Given the description of an element on the screen output the (x, y) to click on. 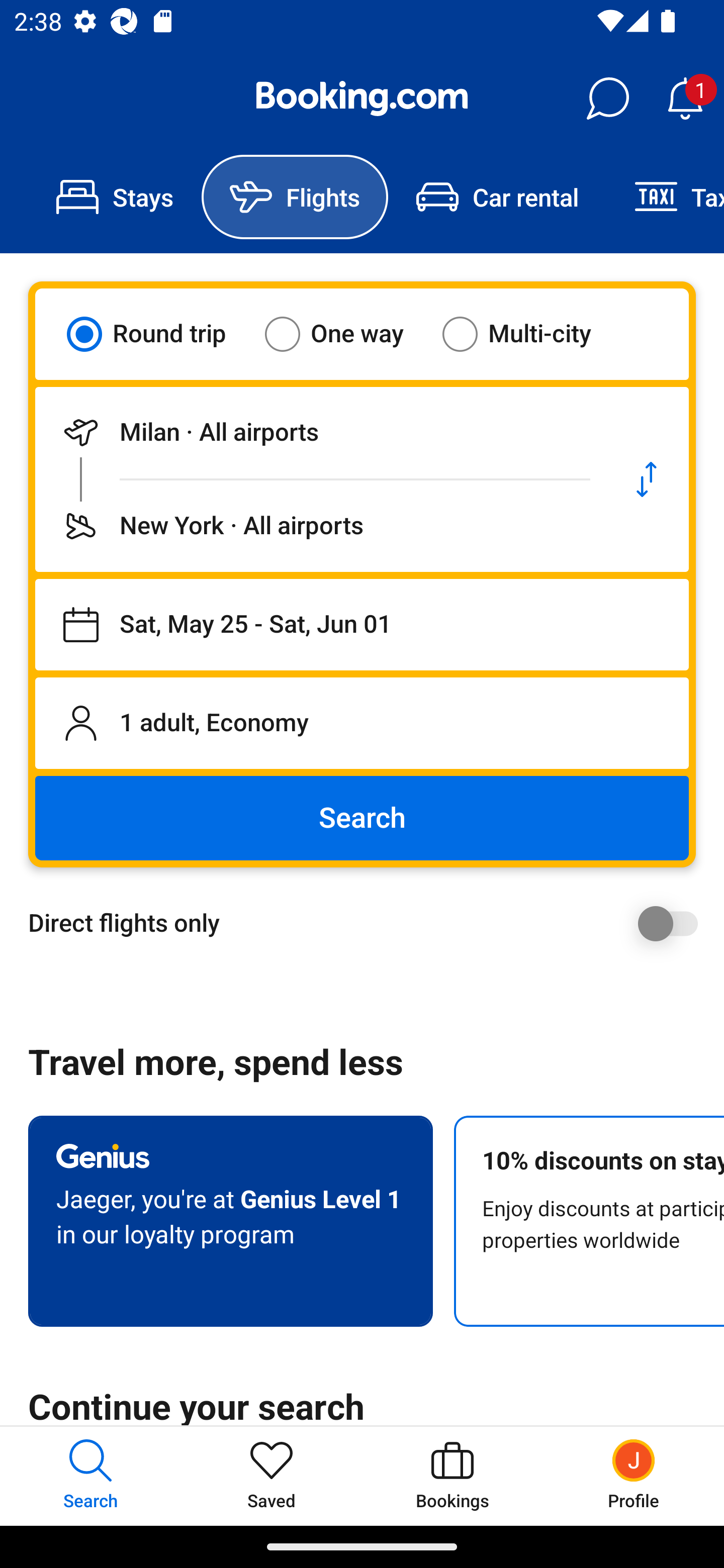
Messages (607, 98)
Notifications (685, 98)
Stays (114, 197)
Flights (294, 197)
Car rental (497, 197)
Taxi (665, 197)
One way (346, 333)
Multi-city (528, 333)
Departing from Milan · All airports (319, 432)
Swap departure location and destination (646, 479)
Flying to New York · All airports (319, 525)
Departing on Sat, May 25, returning on Sat, Jun 01 (361, 624)
1 adult, Economy (361, 722)
Search (361, 818)
Direct flights only (369, 923)
Saved (271, 1475)
Bookings (452, 1475)
Profile (633, 1475)
